Given the description of an element on the screen output the (x, y) to click on. 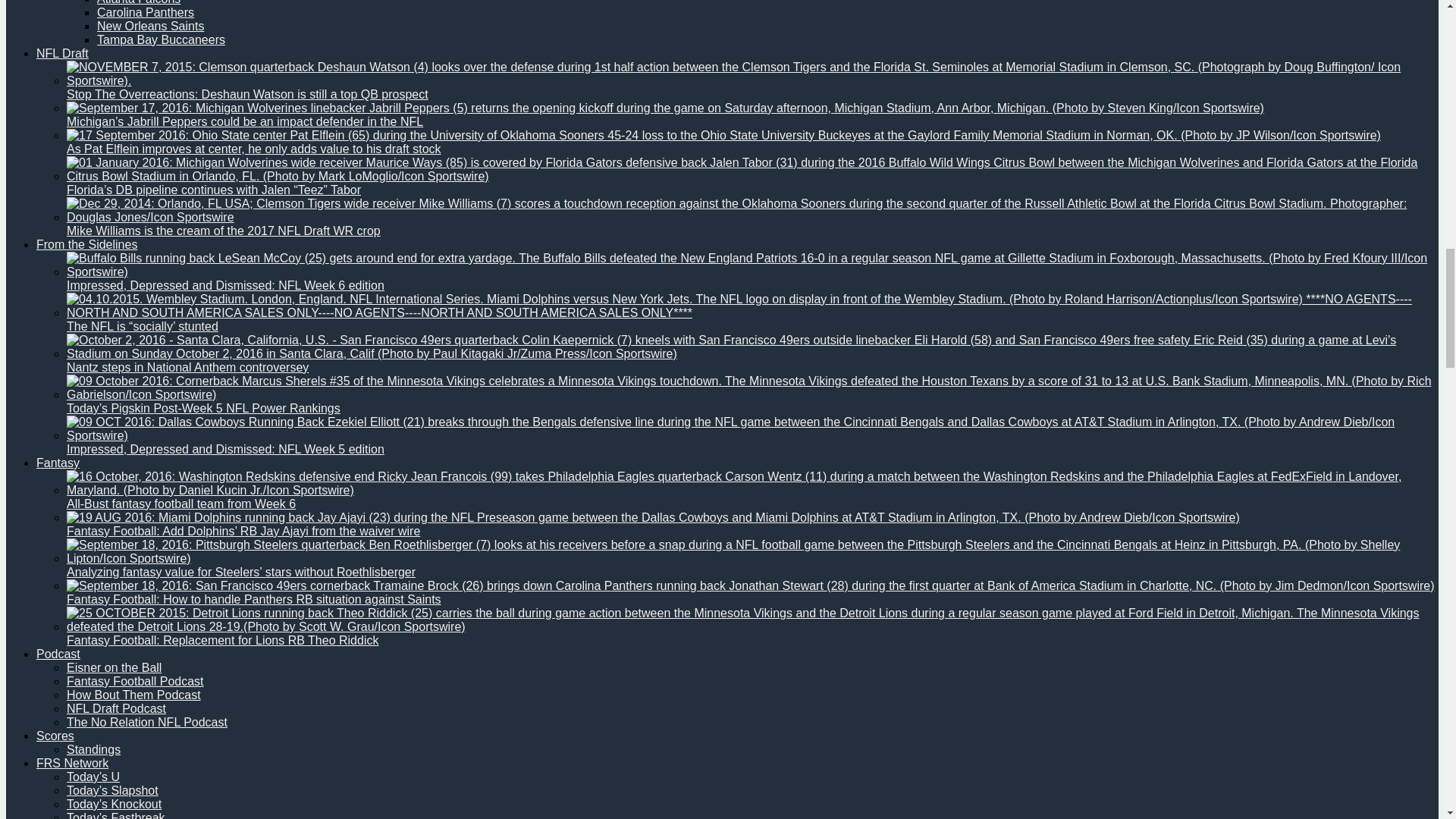
FRSN Home (71, 762)
